Given the description of an element on the screen output the (x, y) to click on. 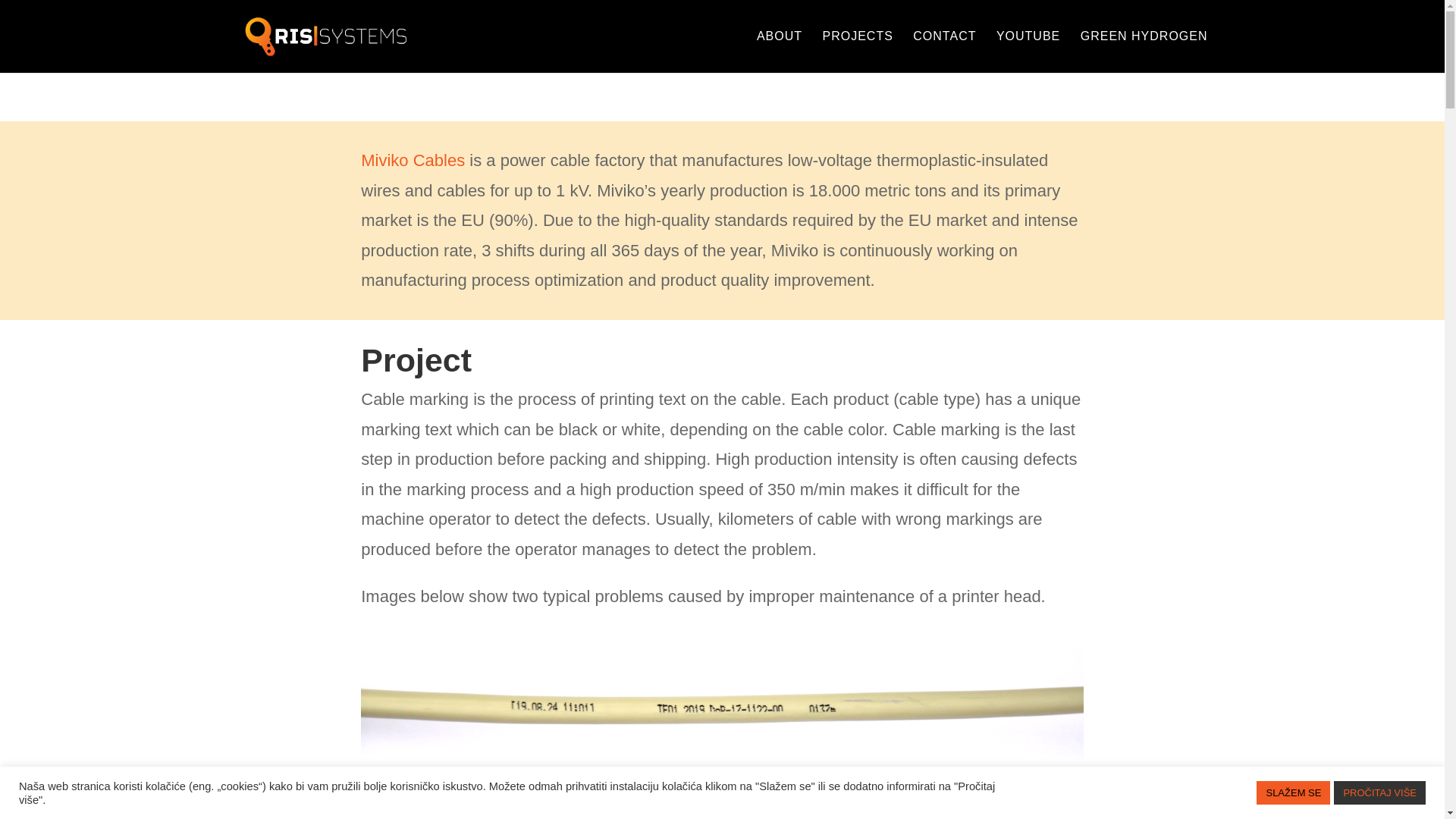
PROJECTS (857, 51)
ABOUT (779, 51)
Miviko Cables (412, 159)
Odrezana slova (722, 705)
printer prska tockice zoom transparent (722, 800)
GREEN HYDROGEN (1144, 51)
YOUTUBE (1027, 51)
CONTACT (943, 51)
